Given the description of an element on the screen output the (x, y) to click on. 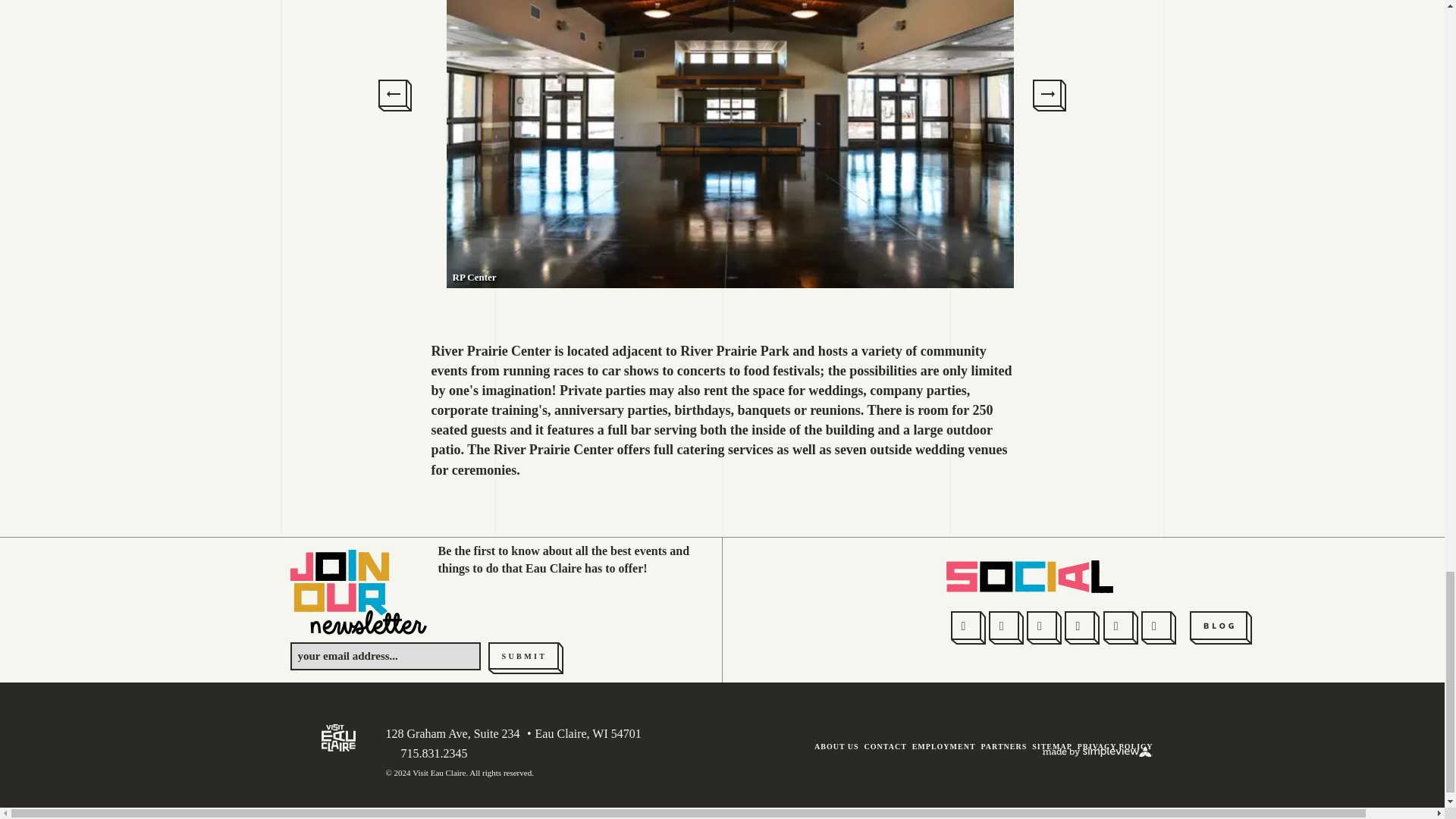
Sitemap (1051, 746)
Privacy Policy (1115, 746)
Partners (1002, 746)
Employment (943, 746)
Contact (885, 746)
SUBMIT (526, 658)
About Us (836, 746)
